Given the description of an element on the screen output the (x, y) to click on. 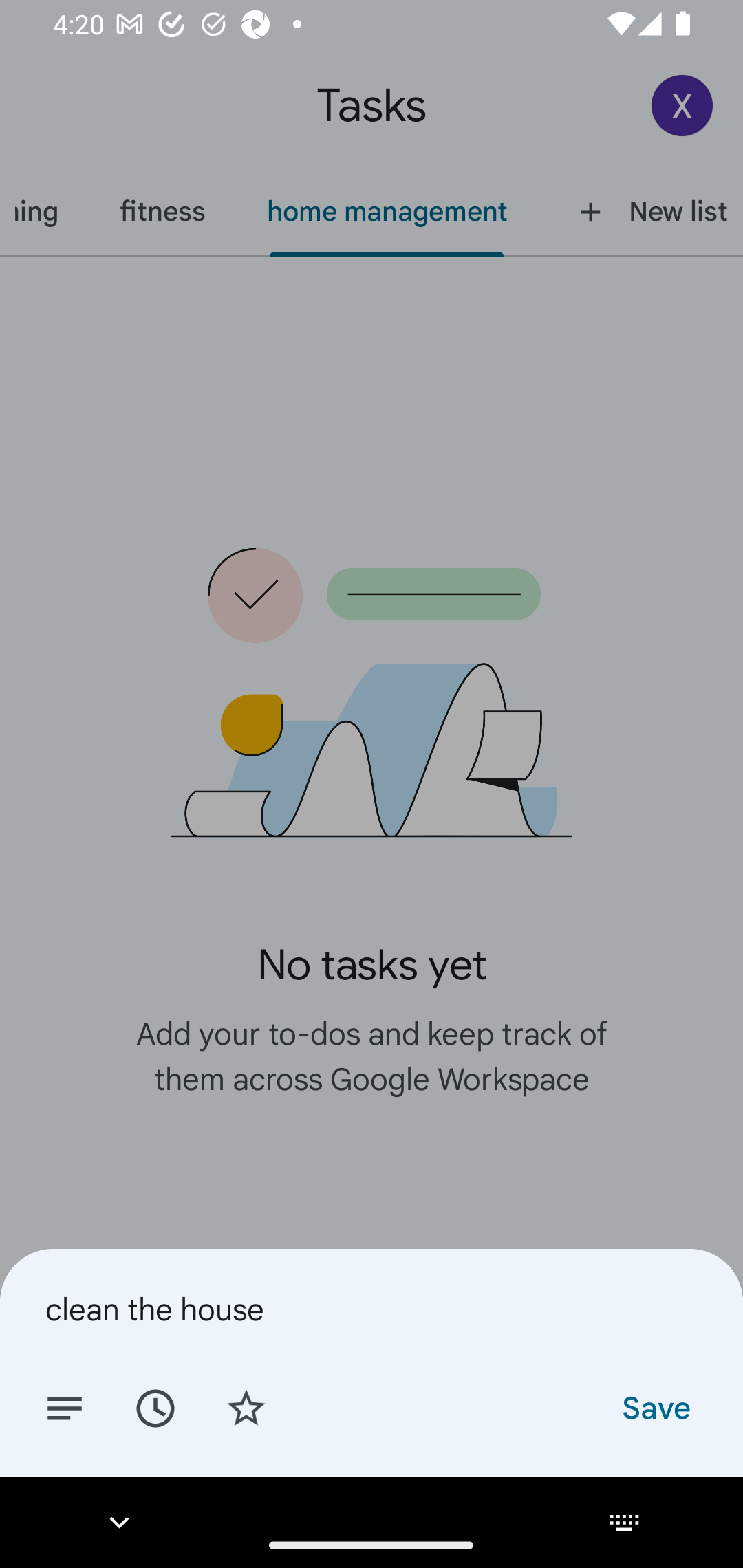
clean the house (371, 1308)
Save (655, 1407)
Add details (64, 1407)
Set date/time (154, 1407)
Add star (245, 1407)
